Given the description of an element on the screen output the (x, y) to click on. 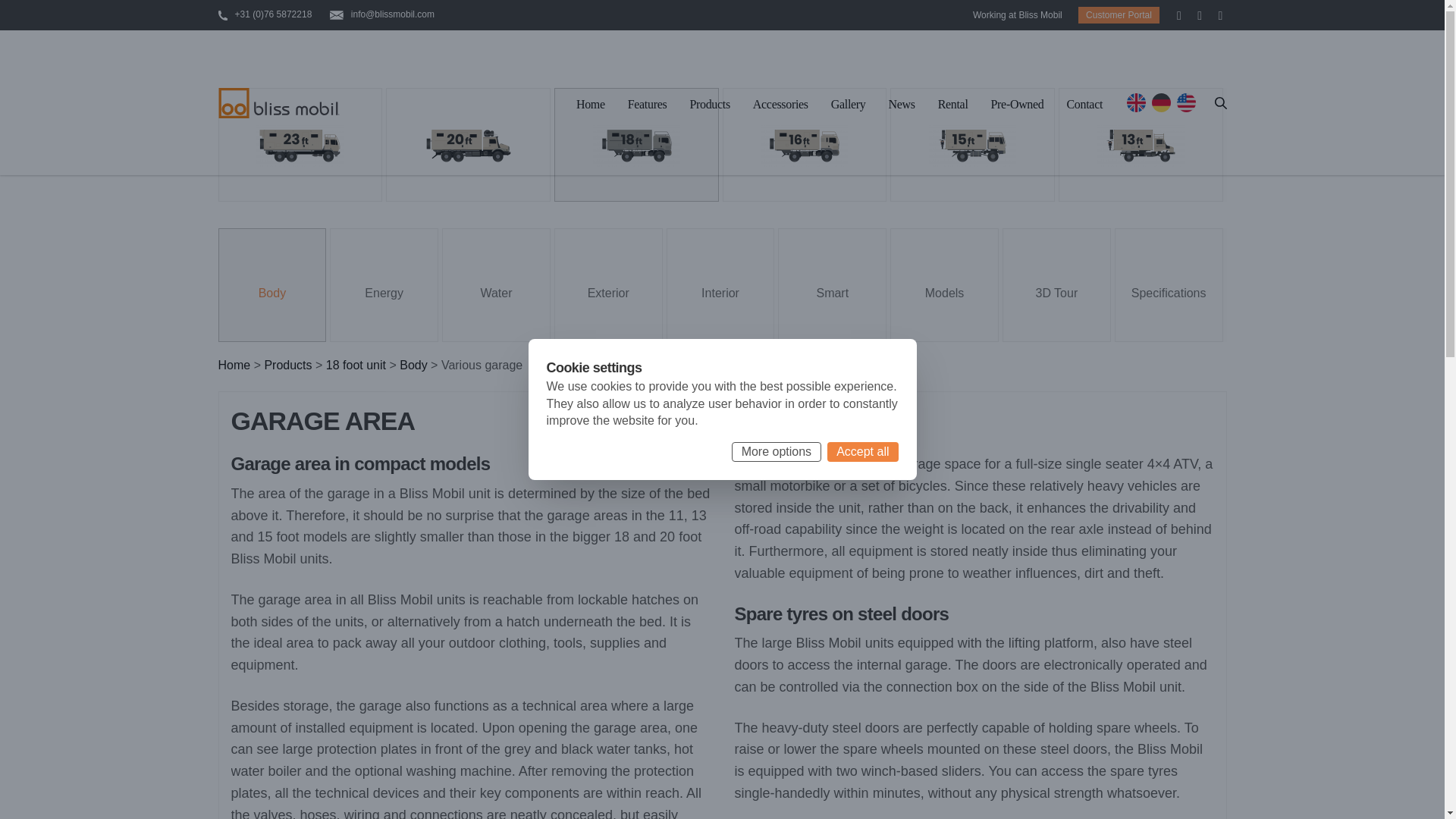
Body (272, 285)
Pre-Owned (1017, 106)
Body (412, 365)
Working at Bliss Mobil (1017, 14)
Water (496, 285)
Accessories (780, 106)
Home (234, 365)
Specifications (1169, 285)
Energy (384, 285)
Exterior (608, 285)
